Given the description of an element on the screen output the (x, y) to click on. 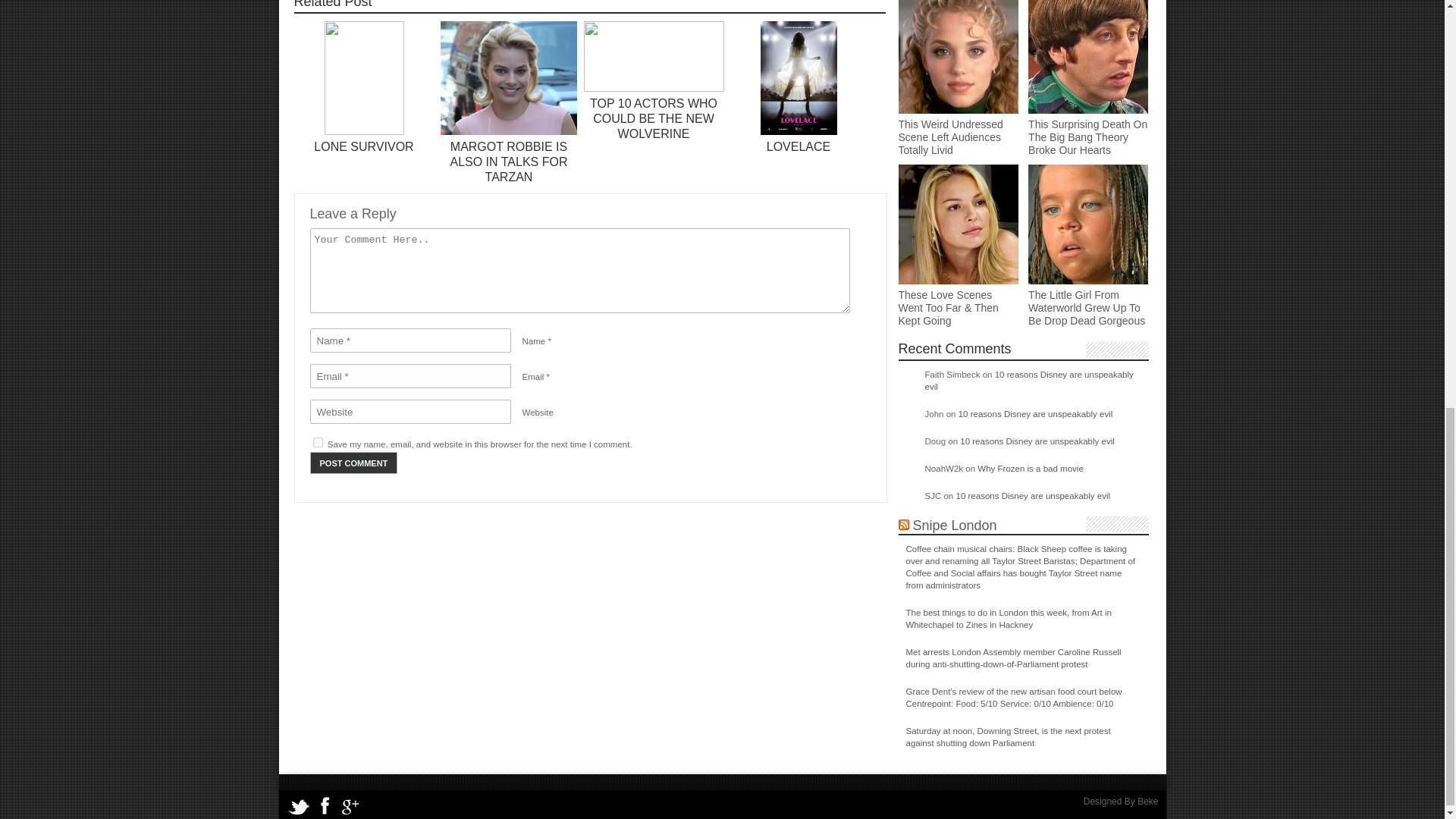
Lone Survivor (363, 146)
Lone Survivor (364, 131)
Post Comment (352, 463)
Lovelace (798, 146)
Top 10 actors who could be the new Wolverine (653, 88)
Margot Robbie is ALSO in talks for Tarzan (508, 162)
Lovelace (797, 131)
Top 10 actors who could be the new Wolverine (653, 118)
Margot Robbie is ALSO in talks for Tarzan (508, 131)
yes (317, 442)
